Given the description of an element on the screen output the (x, y) to click on. 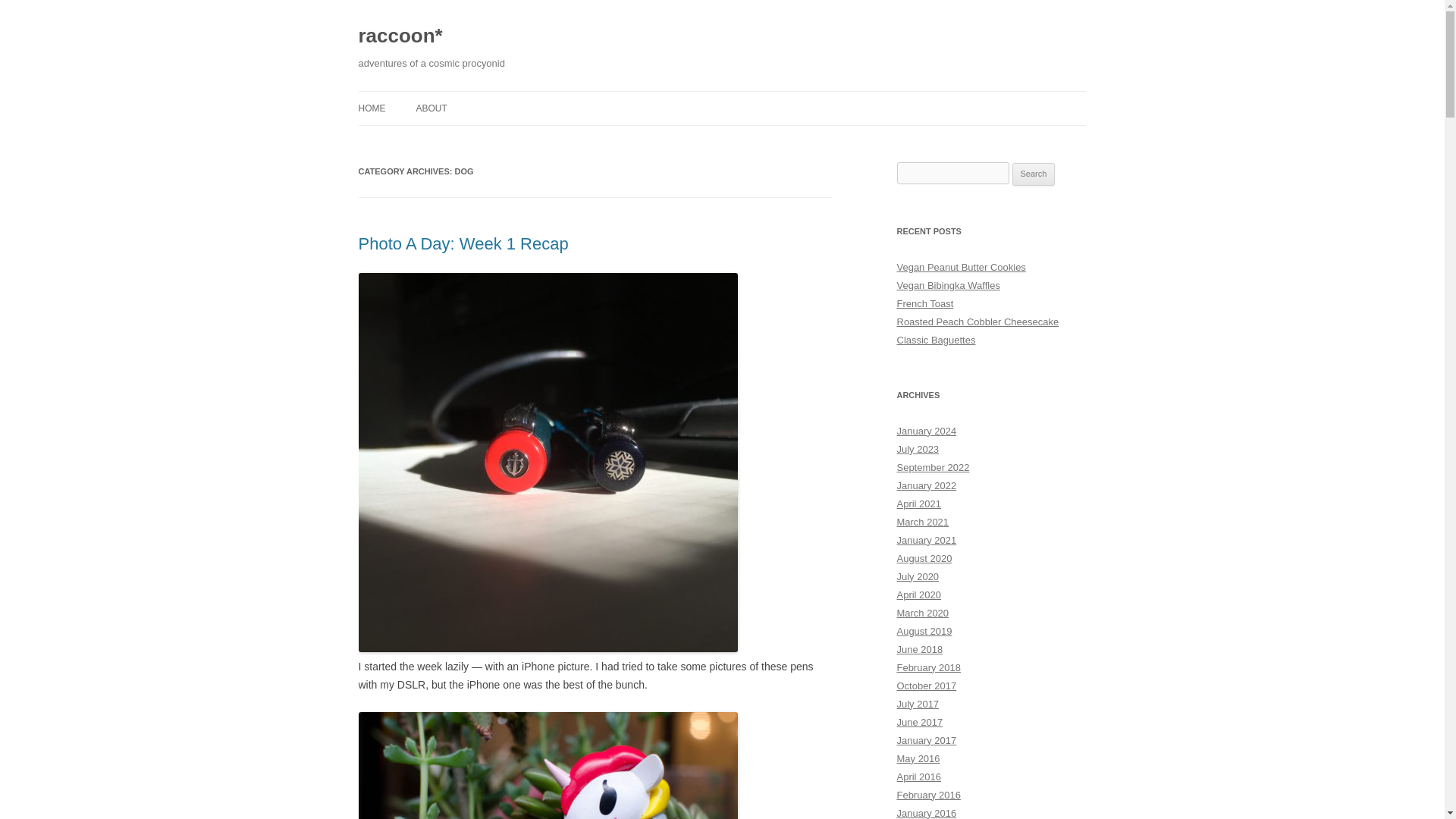
HOME (371, 108)
Search (1033, 173)
Skip to content (757, 95)
Skip to content (757, 95)
Photo A Day: Week 1 Recap (462, 243)
ABOUT (430, 108)
